Given the description of an element on the screen output the (x, y) to click on. 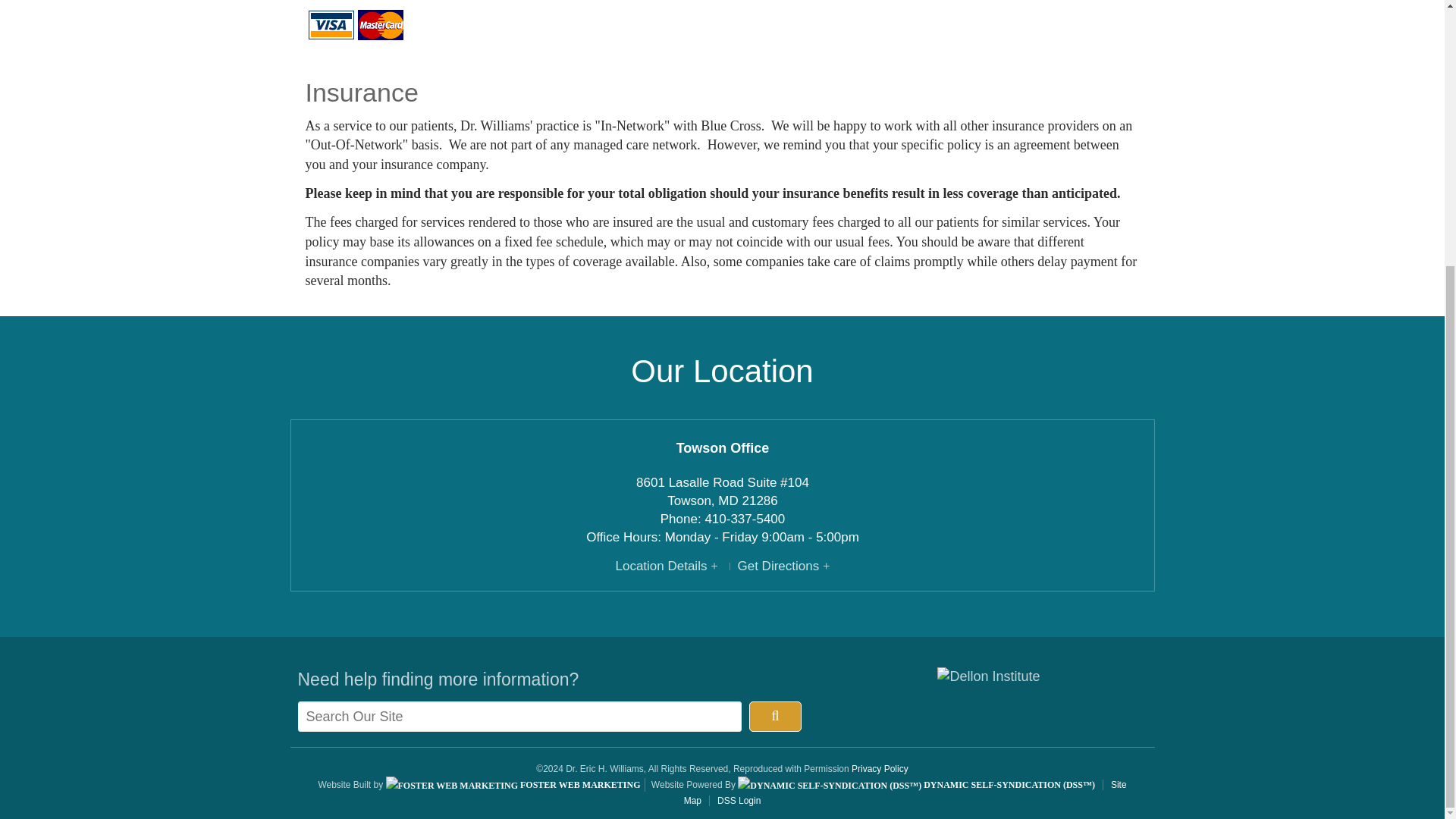
Search (774, 716)
